Given the description of an element on the screen output the (x, y) to click on. 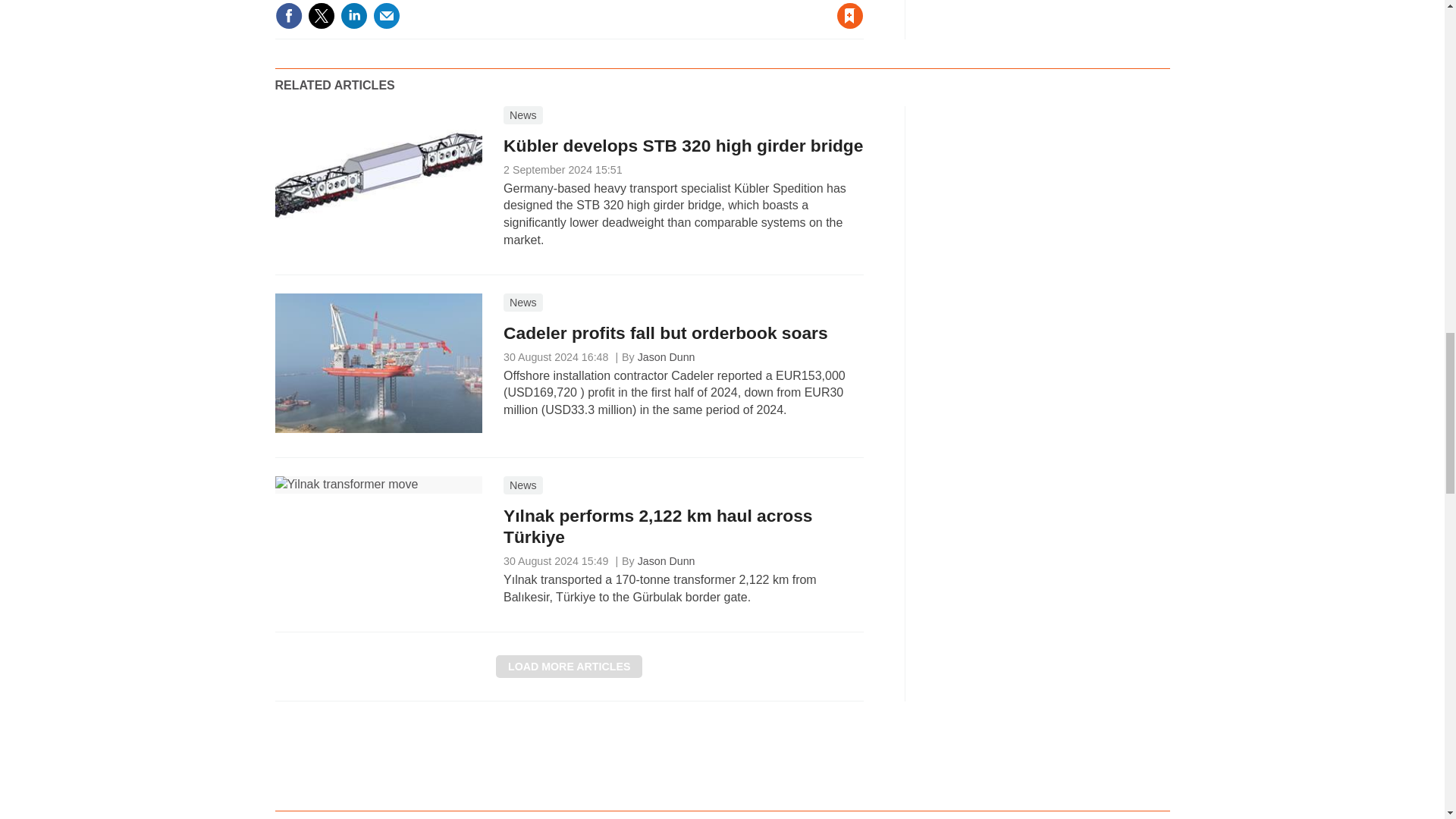
Share this on Linked in (352, 15)
Share this on Facebook (288, 15)
Email this article (386, 15)
Share this on Twitter (320, 15)
